Given the description of an element on the screen output the (x, y) to click on. 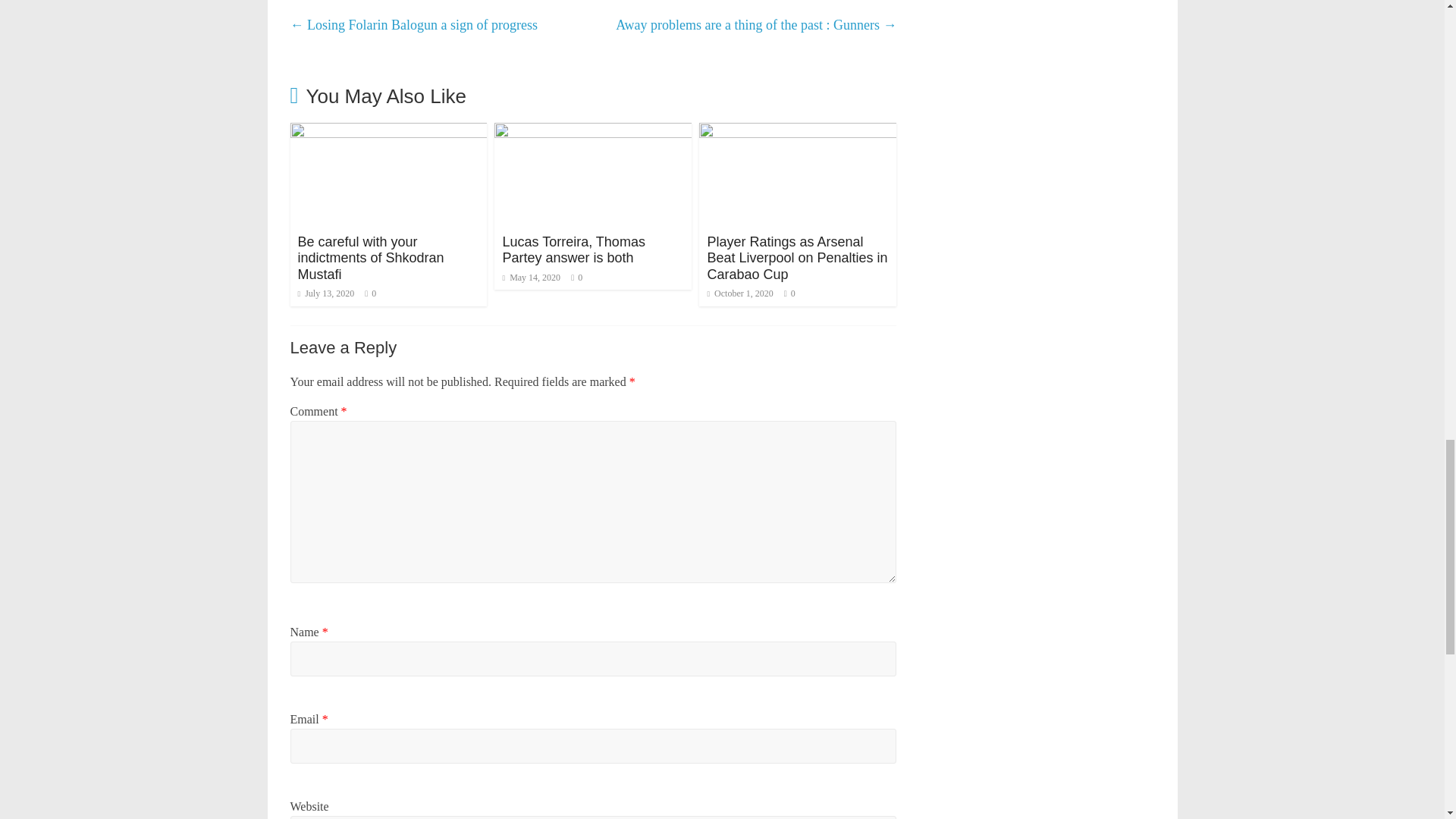
Be careful with your indictments of Shkodran Mustafi (370, 257)
Lucas Torreira, Thomas Partey answer is both (573, 250)
Be careful with your indictments of Shkodran Mustafi (370, 257)
Lucas Torreira, Thomas Partey answer is both (573, 250)
5:07 pm (325, 293)
May 14, 2020 (531, 276)
Lucas Torreira, Thomas Partey answer is both (593, 132)
July 13, 2020 (325, 293)
Be careful with your indictments of Shkodran Mustafi (387, 132)
October 1, 2020 (739, 293)
